Given the description of an element on the screen output the (x, y) to click on. 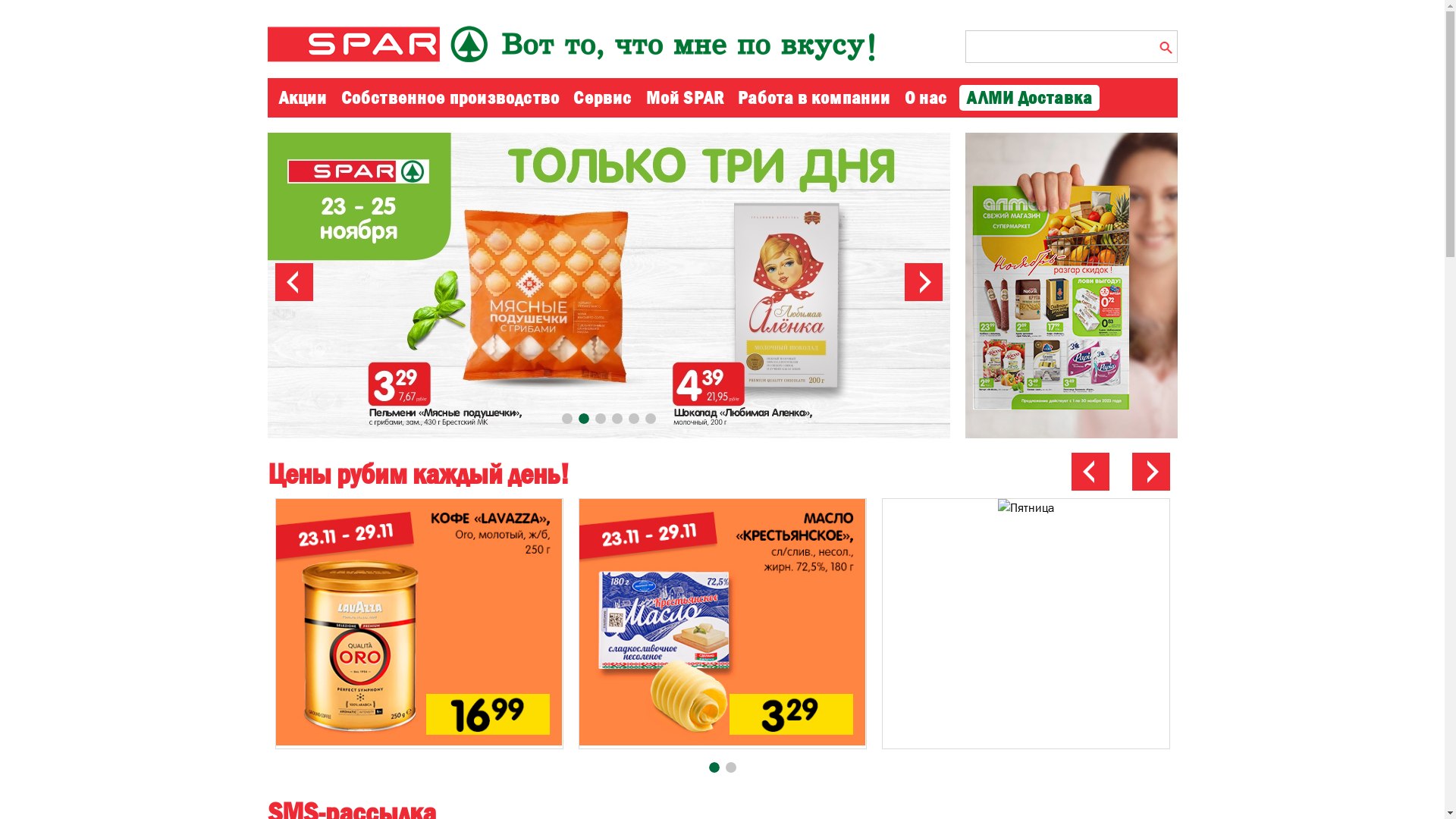
SPAR Element type: text (588, 43)
5 Element type: text (632, 418)
1 Element type: text (566, 418)
Previous Element type: text (293, 281)
Next Element type: text (1150, 471)
4 Element type: text (616, 418)
2 Element type: text (729, 767)
Previous Element type: text (1089, 471)
6 Element type: text (649, 418)
1 Element type: text (713, 767)
2 Element type: text (582, 418)
Next Element type: text (922, 281)
3 Element type: text (599, 418)
